Given the description of an element on the screen output the (x, y) to click on. 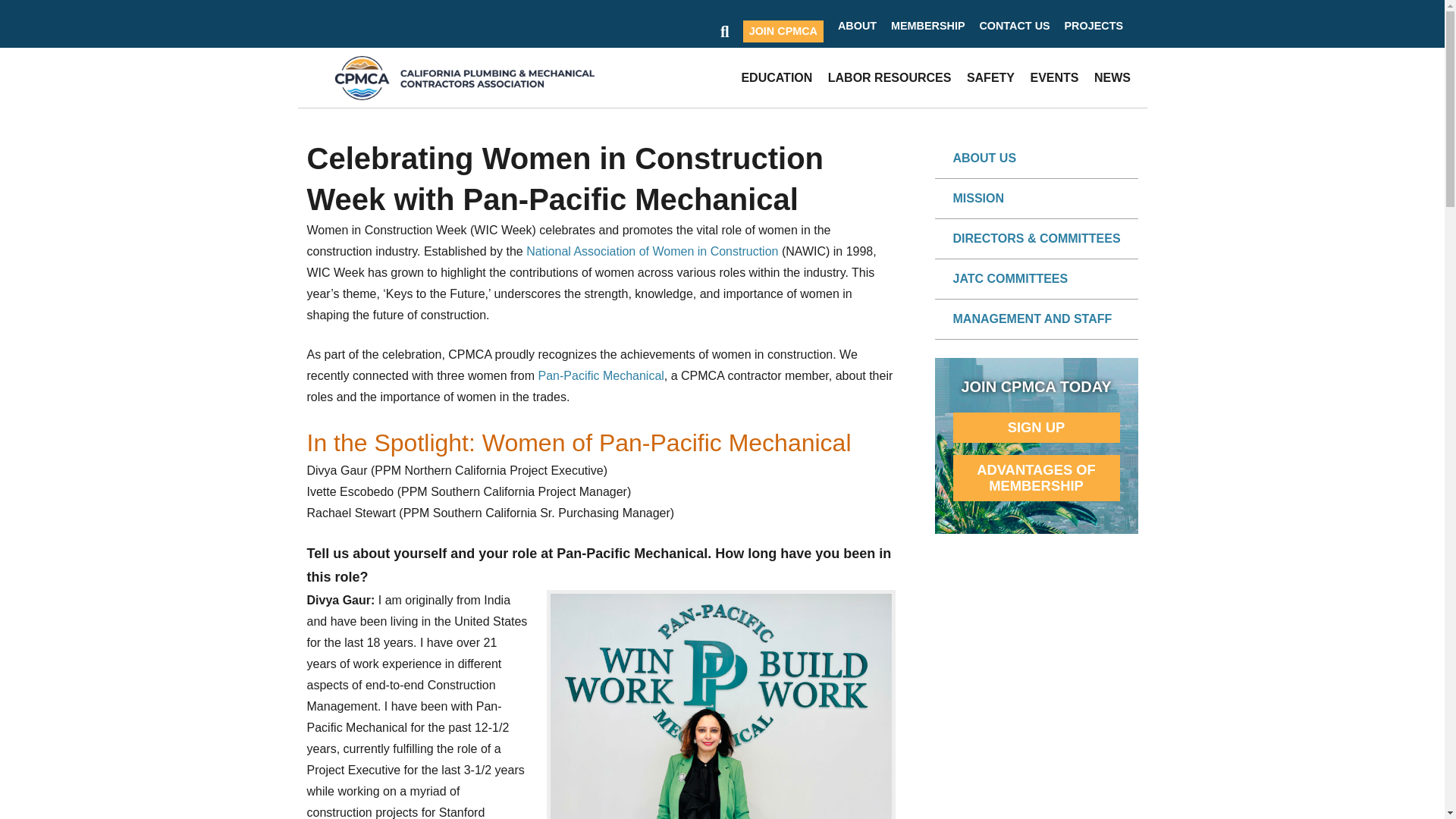
Open Search (724, 31)
CONTACT US (1010, 25)
MEMBERSHIP (923, 25)
PROJECTS (1089, 25)
JOIN CPMCA (783, 31)
ABOUT (852, 25)
